Given the description of an element on the screen output the (x, y) to click on. 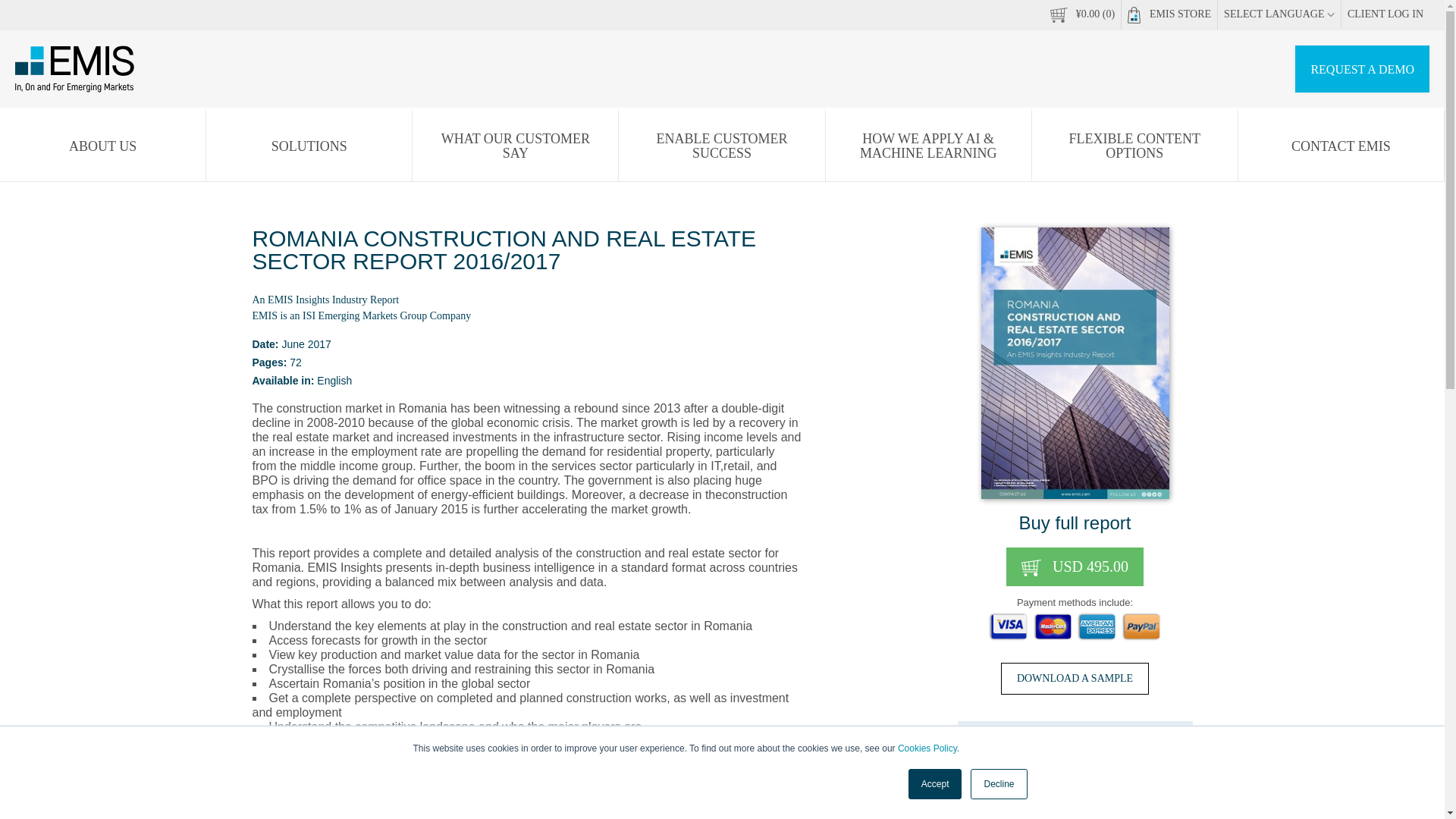
FLEXIBLE CONTENT OPTIONS (1134, 145)
About us (102, 145)
Enable Customer Success (721, 145)
WHAT OUR CUSTOMER SAY (514, 145)
CLIENT LOG IN (1384, 13)
EMIS STORE (1169, 15)
What our Customer Say (514, 145)
ABOUT US (102, 145)
REQUEST A DEMO (1362, 68)
SOLUTIONS (309, 145)
Flexible Content Options (1134, 145)
USD 495.00 (1074, 566)
Contact EMIS (1341, 145)
ENABLE CUSTOMER SUCCESS (721, 145)
DOWNLOAD A SAMPLE (1074, 678)
